Given the description of an element on the screen output the (x, y) to click on. 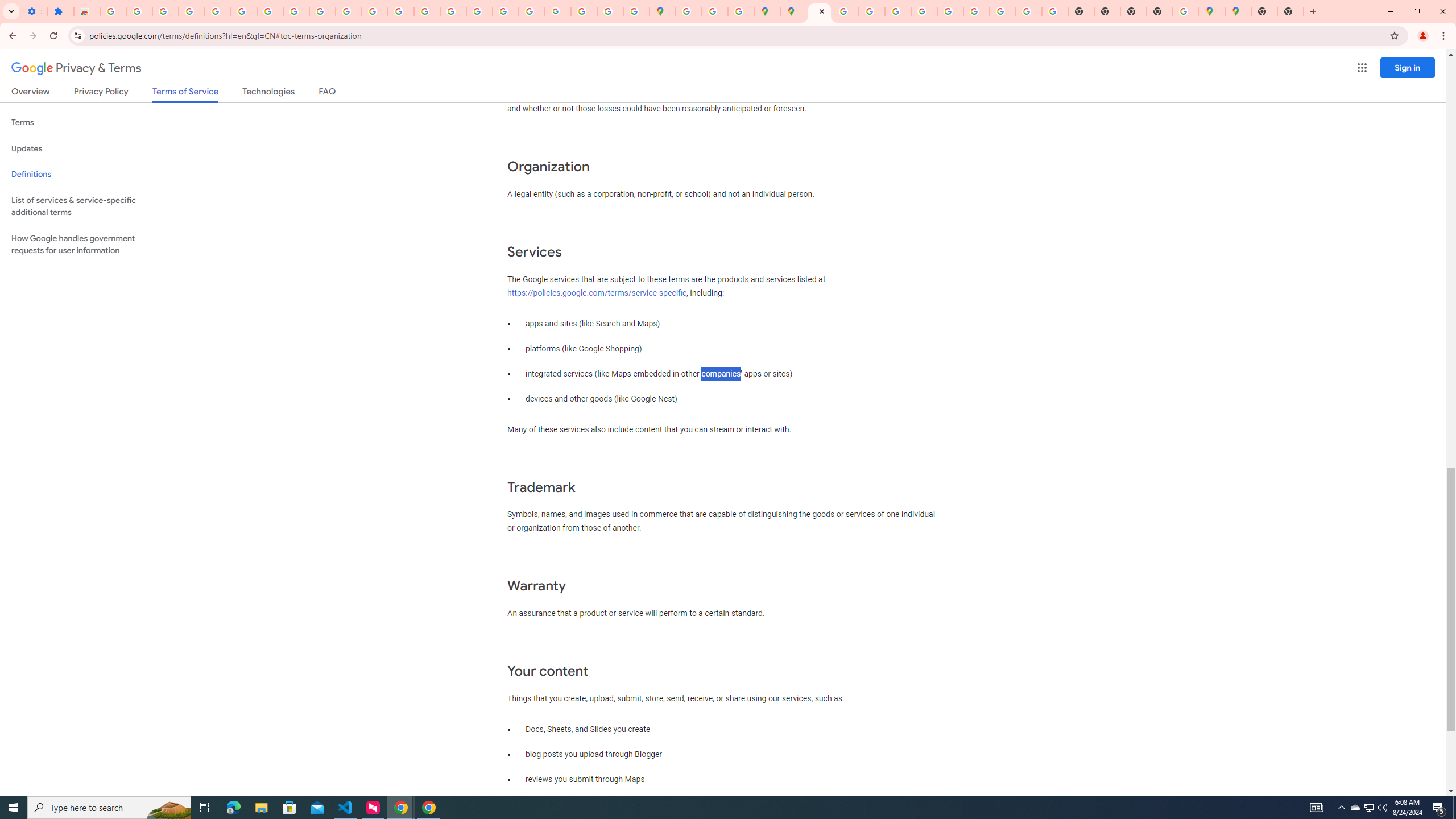
https://scholar.google.com/ (400, 11)
